Given the description of an element on the screen output the (x, y) to click on. 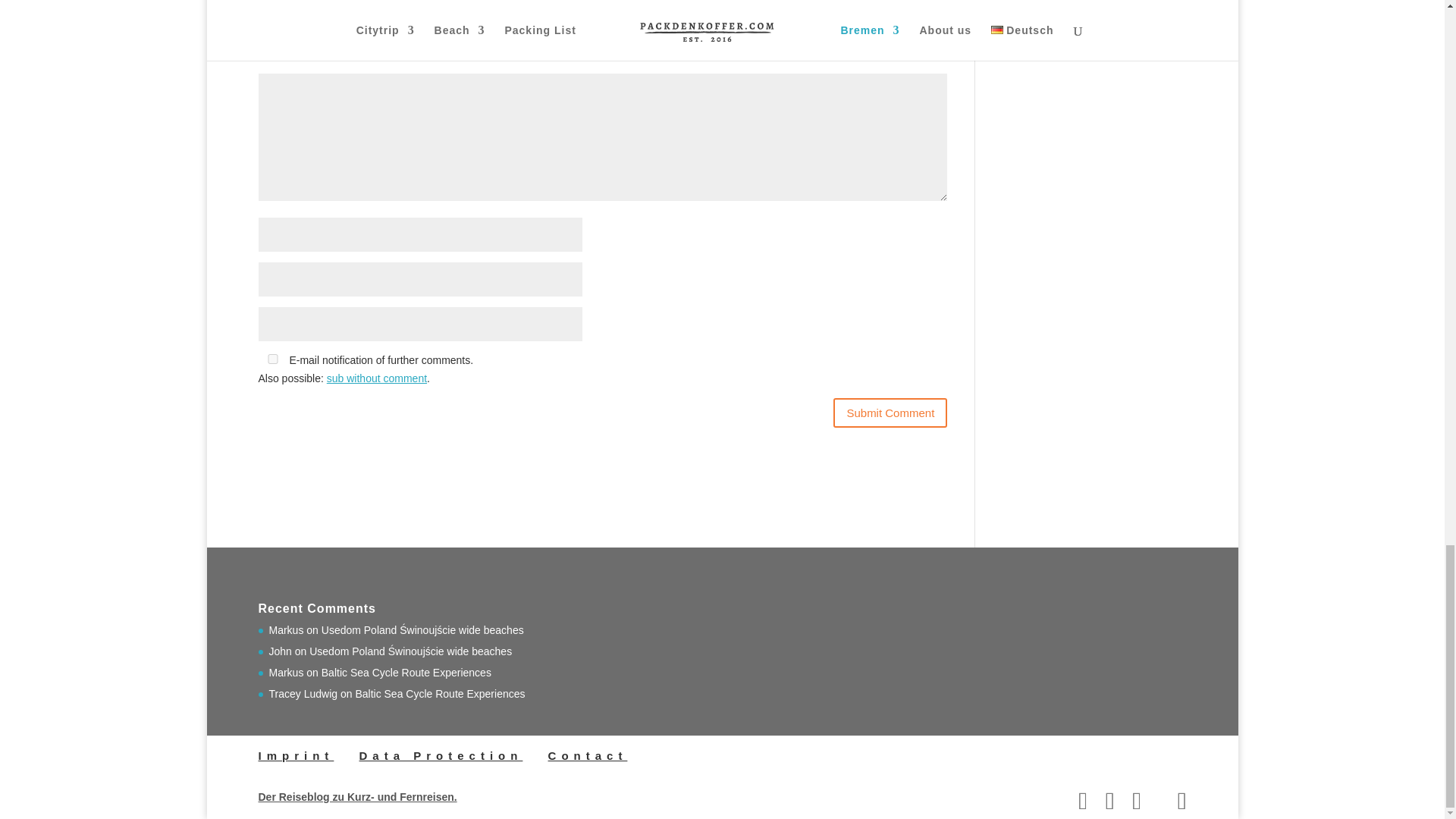
yes (271, 358)
Submit Comment (889, 412)
